Given the description of an element on the screen output the (x, y) to click on. 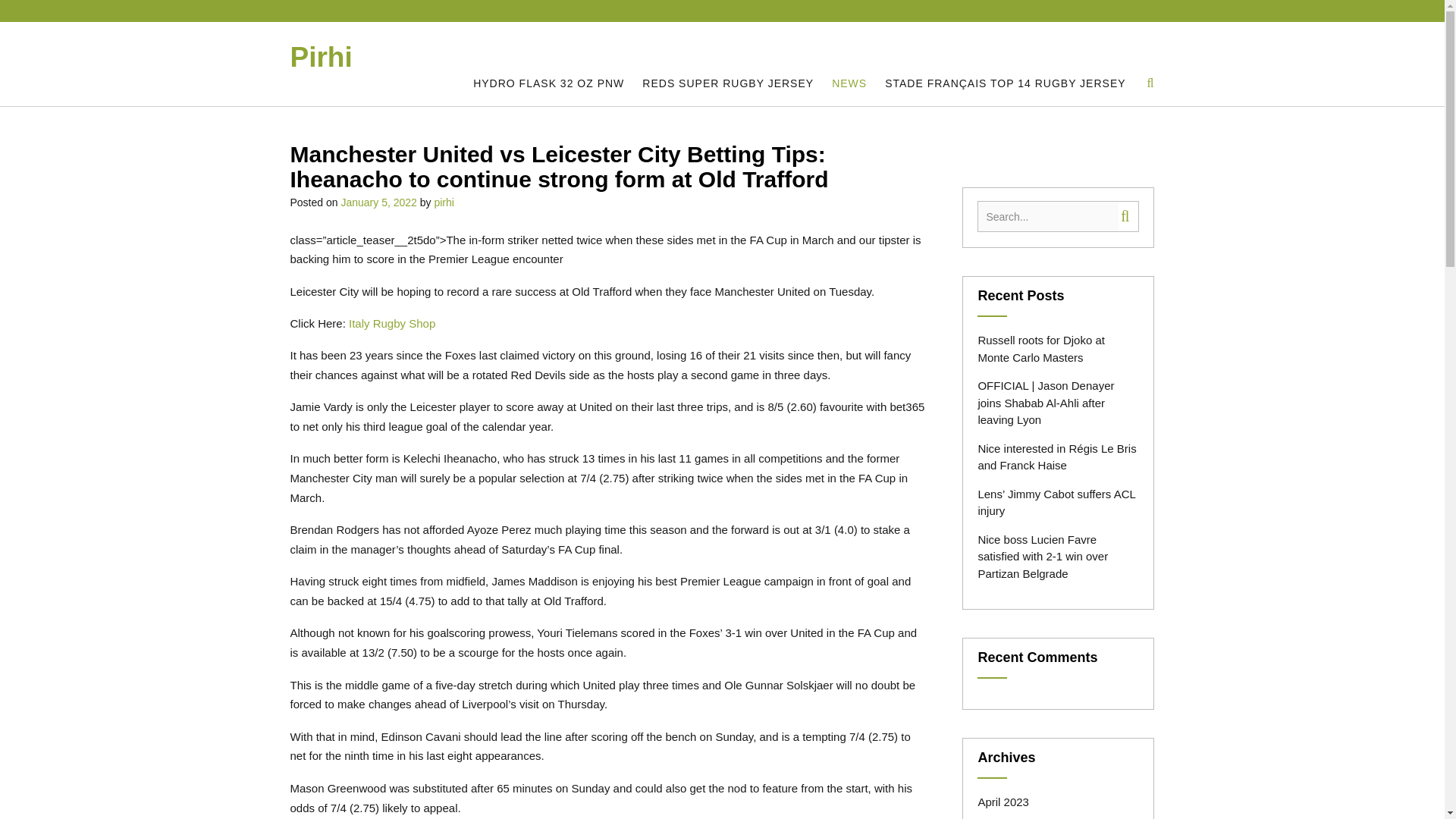
pirhi (442, 202)
REDS SUPER RUGBY JERSEY (727, 83)
Italy Rugby Shop (392, 323)
Search for: (1047, 215)
NEWS (848, 83)
January 5, 2022 (378, 202)
Italy Rugby Shop (392, 323)
Pirhi (320, 57)
HYDRO FLASK 32 OZ PNW (548, 83)
